Given the description of an element on the screen output the (x, y) to click on. 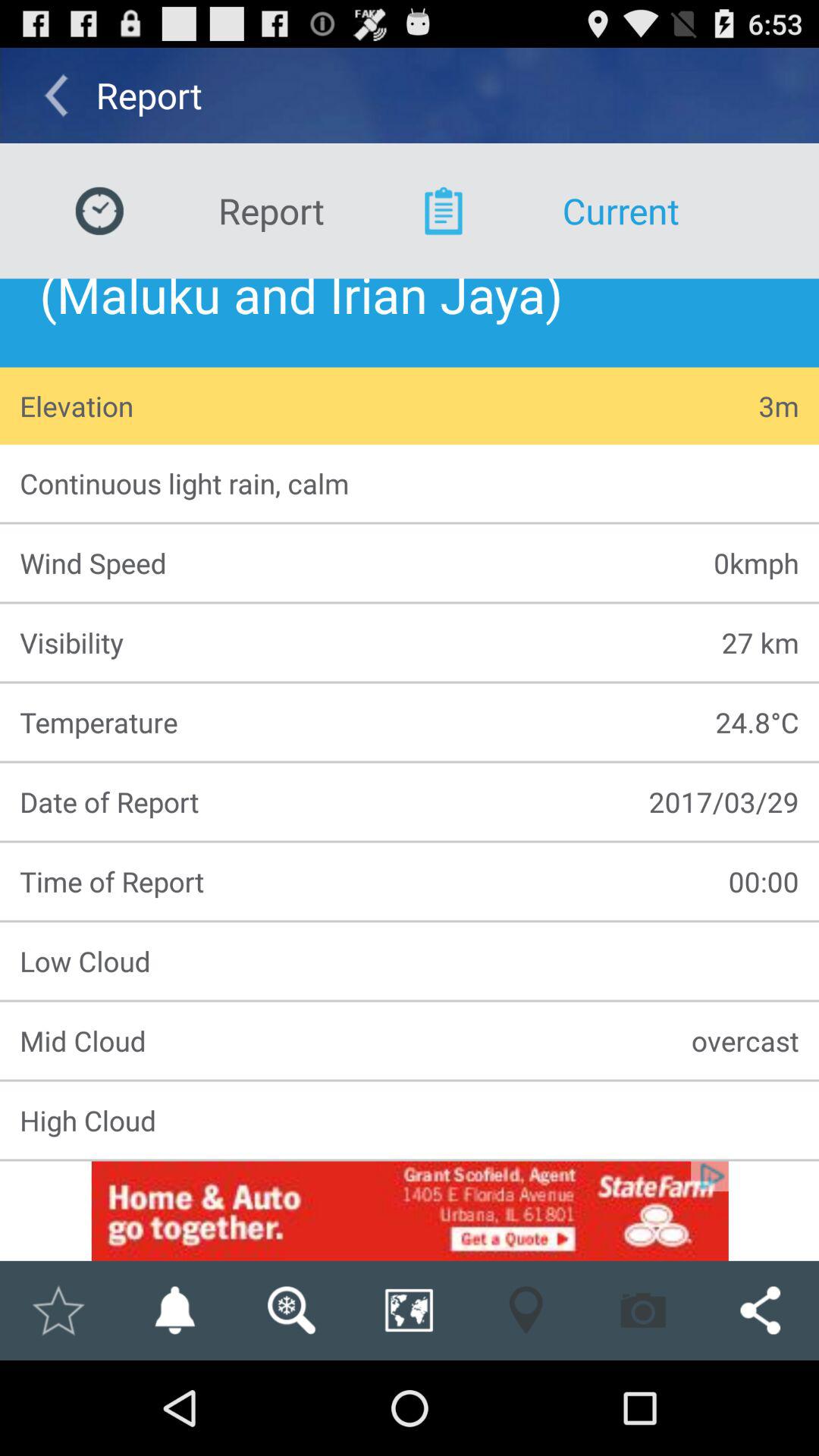
mark as favorite (58, 1310)
